Given the description of an element on the screen output the (x, y) to click on. 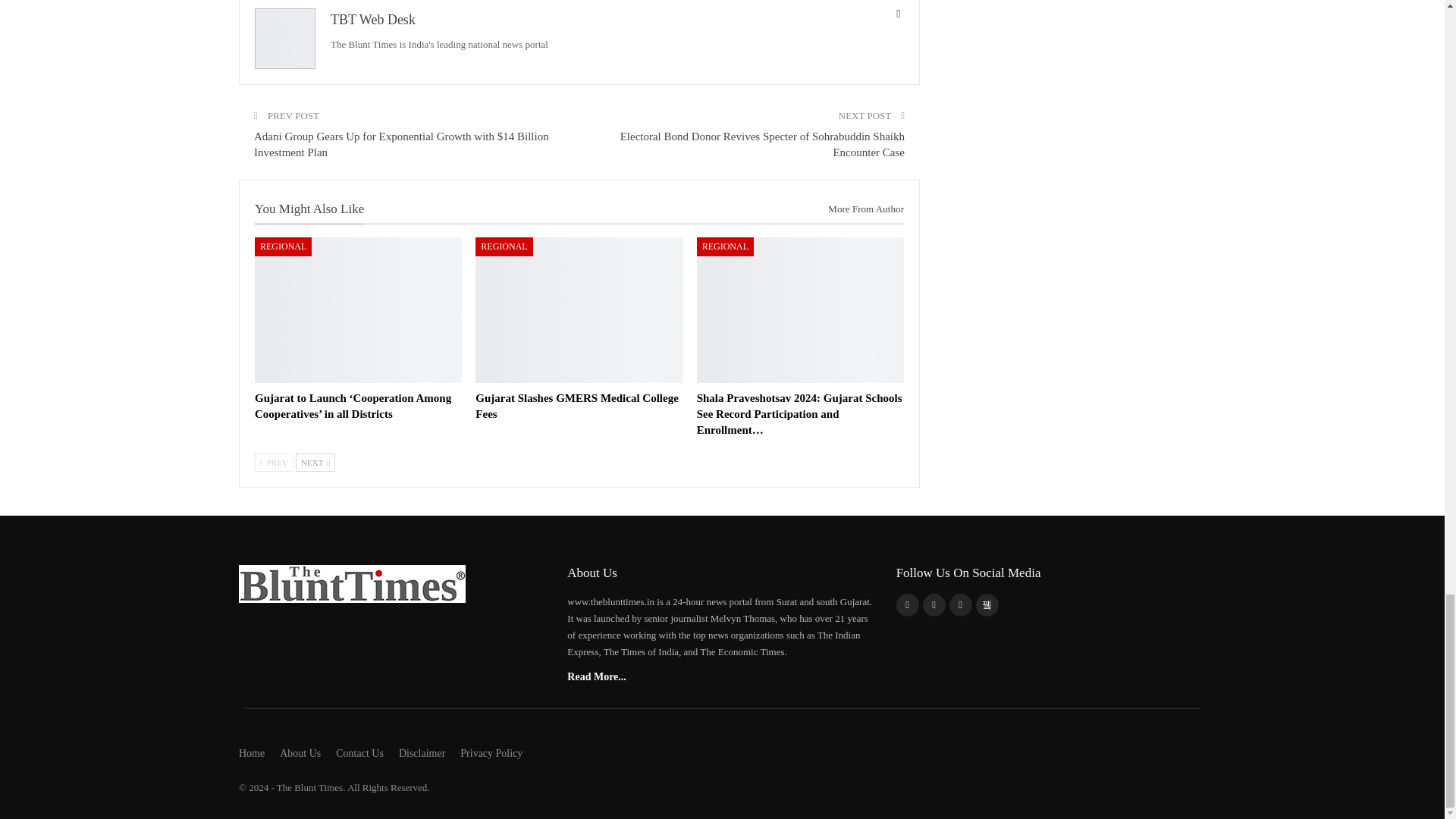
Gujarat Slashes GMERS Medical College Fees (577, 406)
Gujarat Slashes GMERS Medical College Fees (579, 309)
Previous (274, 462)
Next (314, 462)
